Given the description of an element on the screen output the (x, y) to click on. 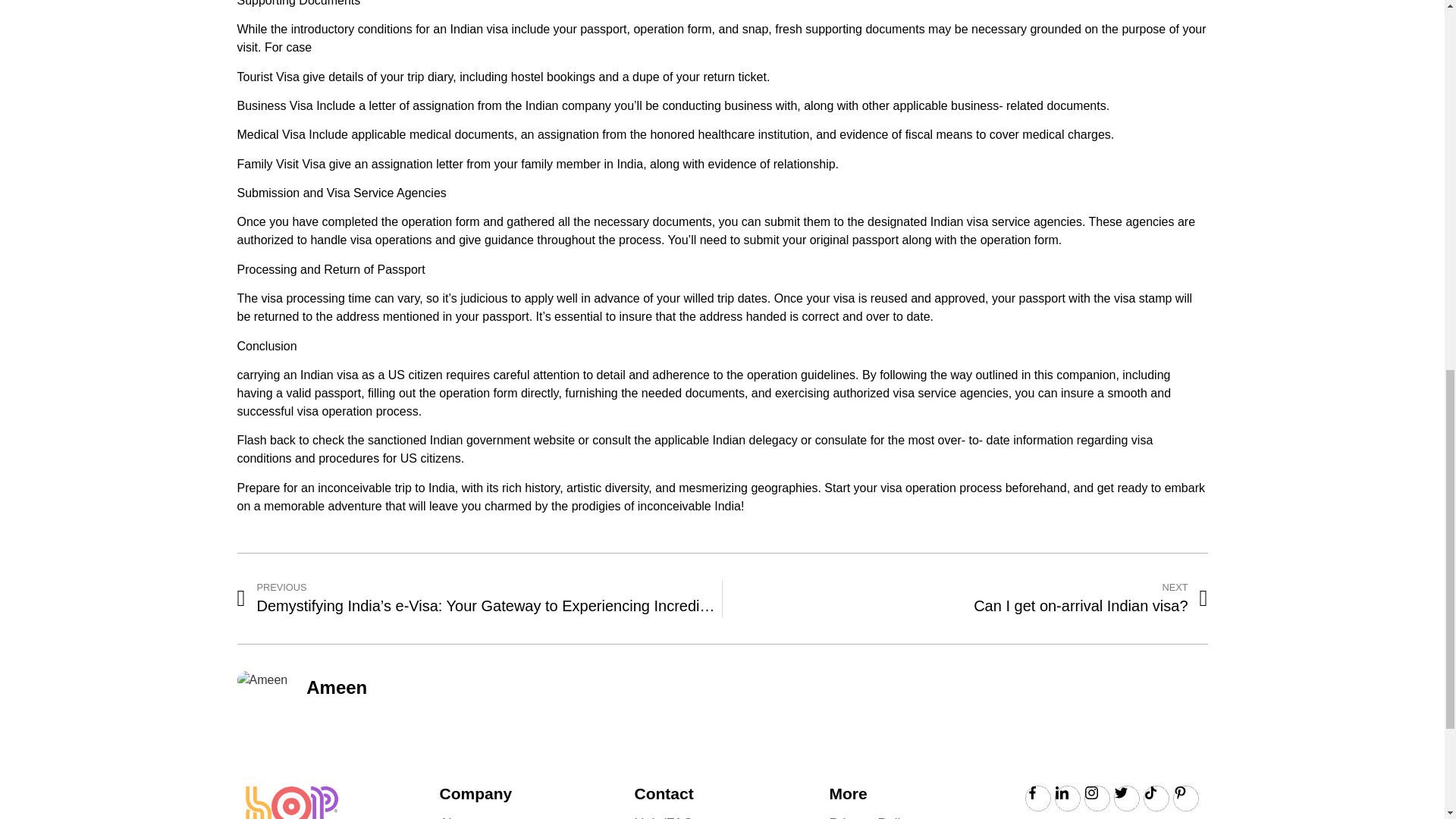
Privacy Policy (965, 598)
About (871, 817)
